Given the description of an element on the screen output the (x, y) to click on. 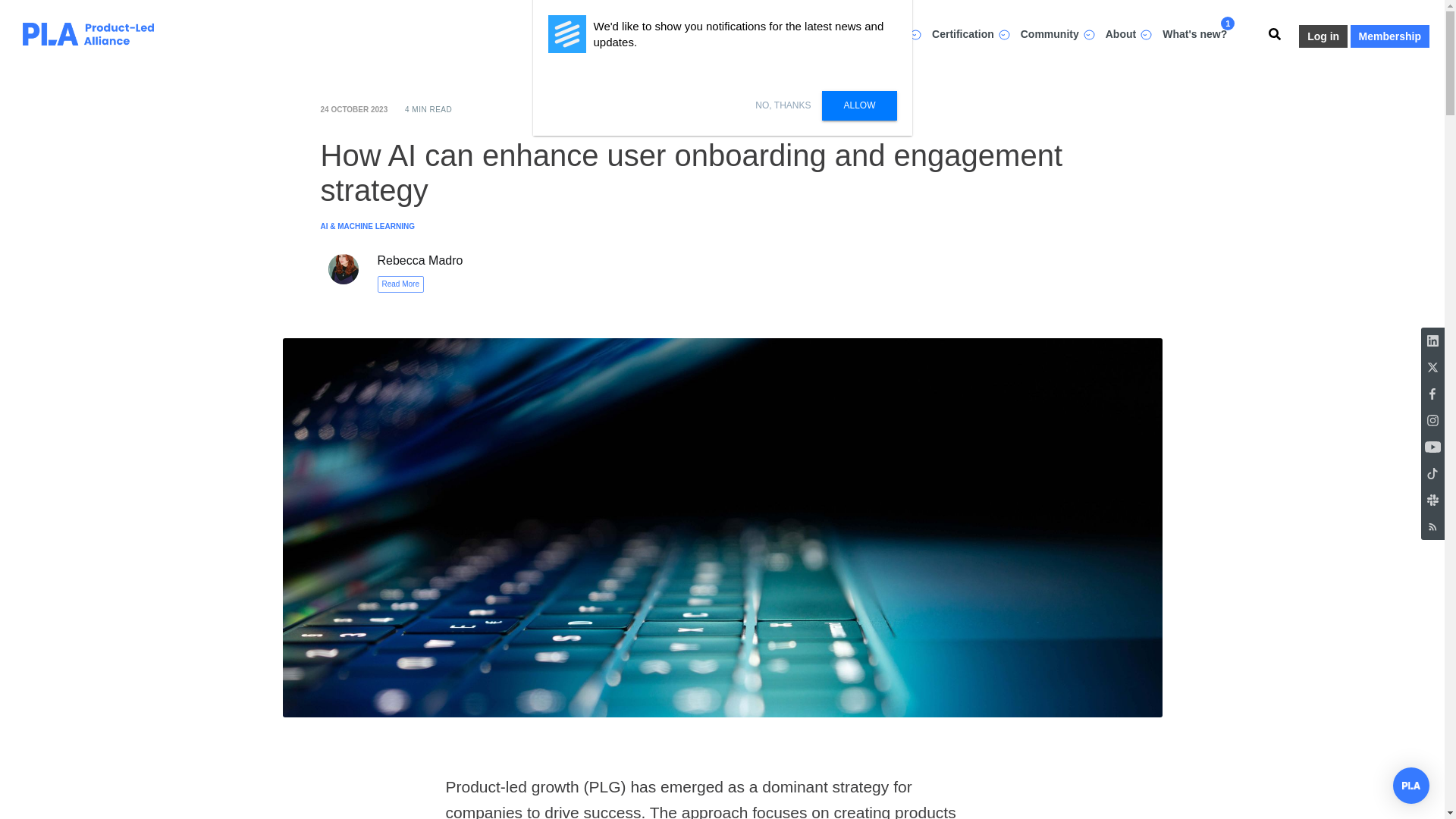
Membership (1390, 36)
Log in (1323, 36)
